Given the description of an element on the screen output the (x, y) to click on. 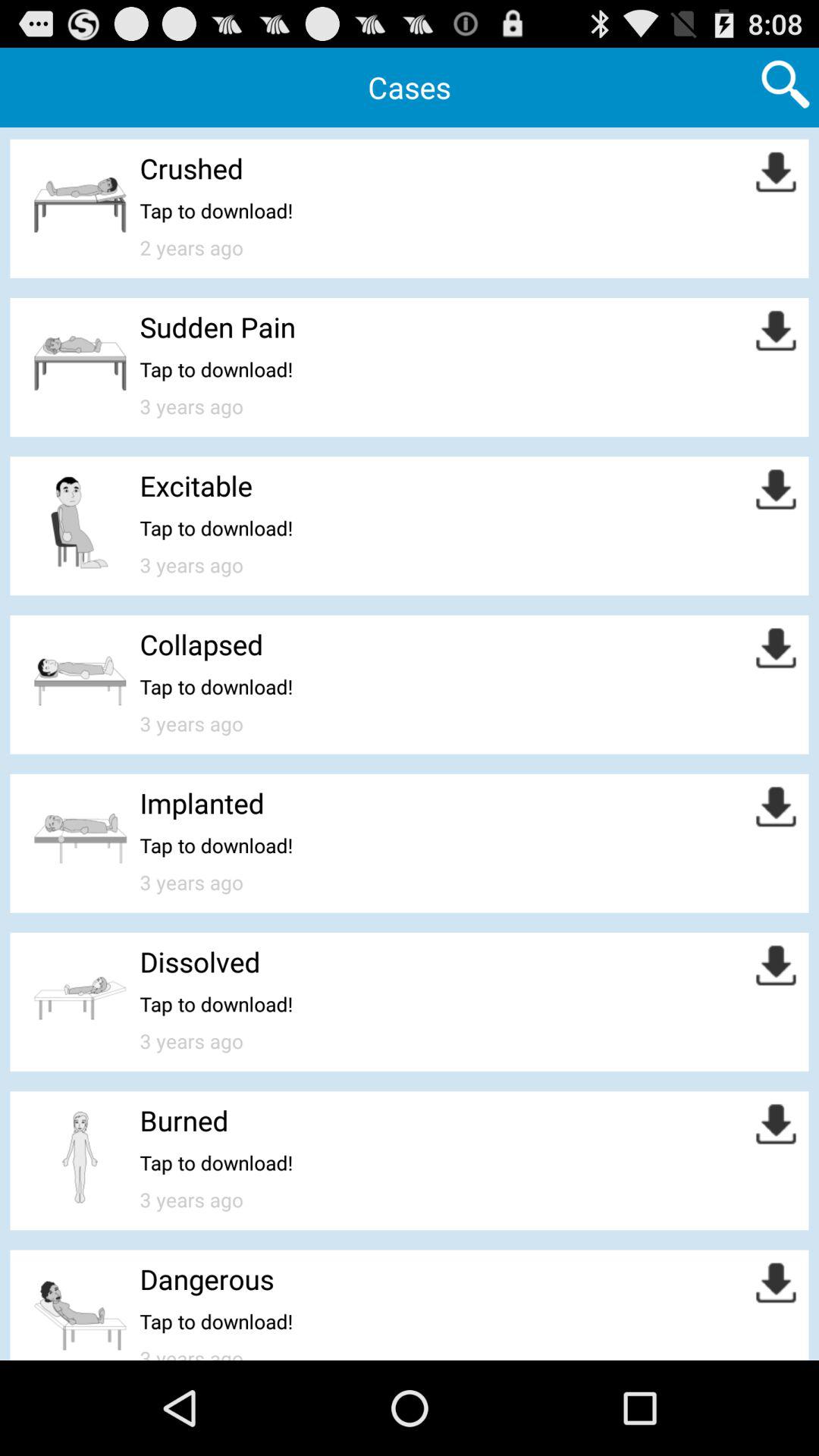
flip until the crushed item (191, 168)
